Given the description of an element on the screen output the (x, y) to click on. 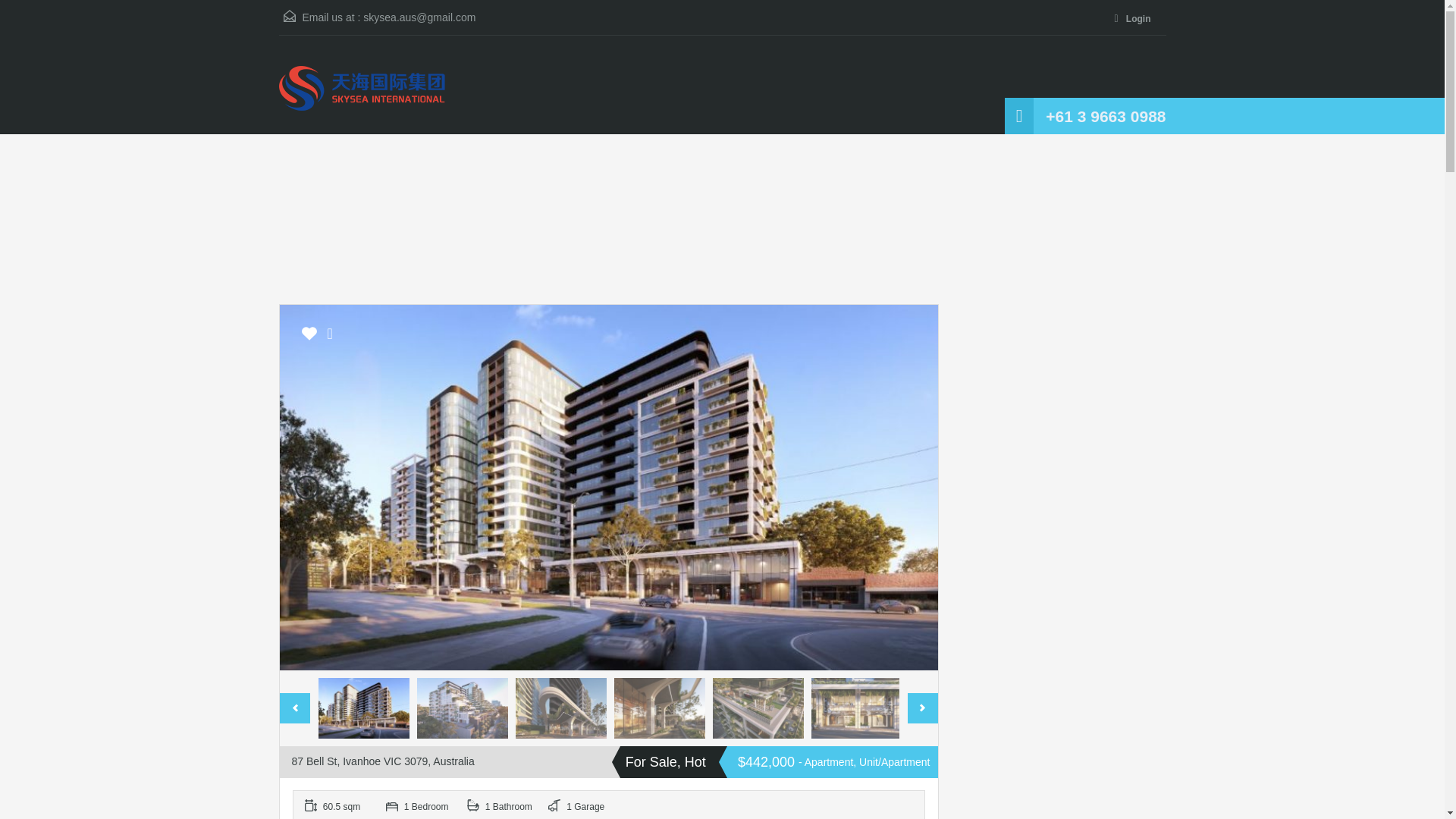
Previous (306, 487)
Make a Call (1105, 116)
Area Size (339, 805)
Login (1135, 19)
Add to favorite (309, 338)
